Given the description of an element on the screen output the (x, y) to click on. 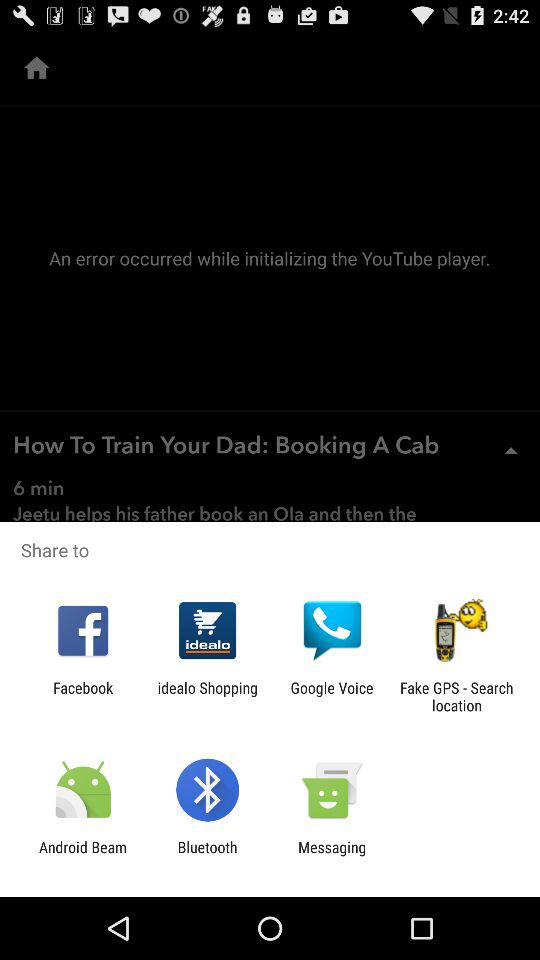
flip until facebook item (83, 696)
